Given the description of an element on the screen output the (x, y) to click on. 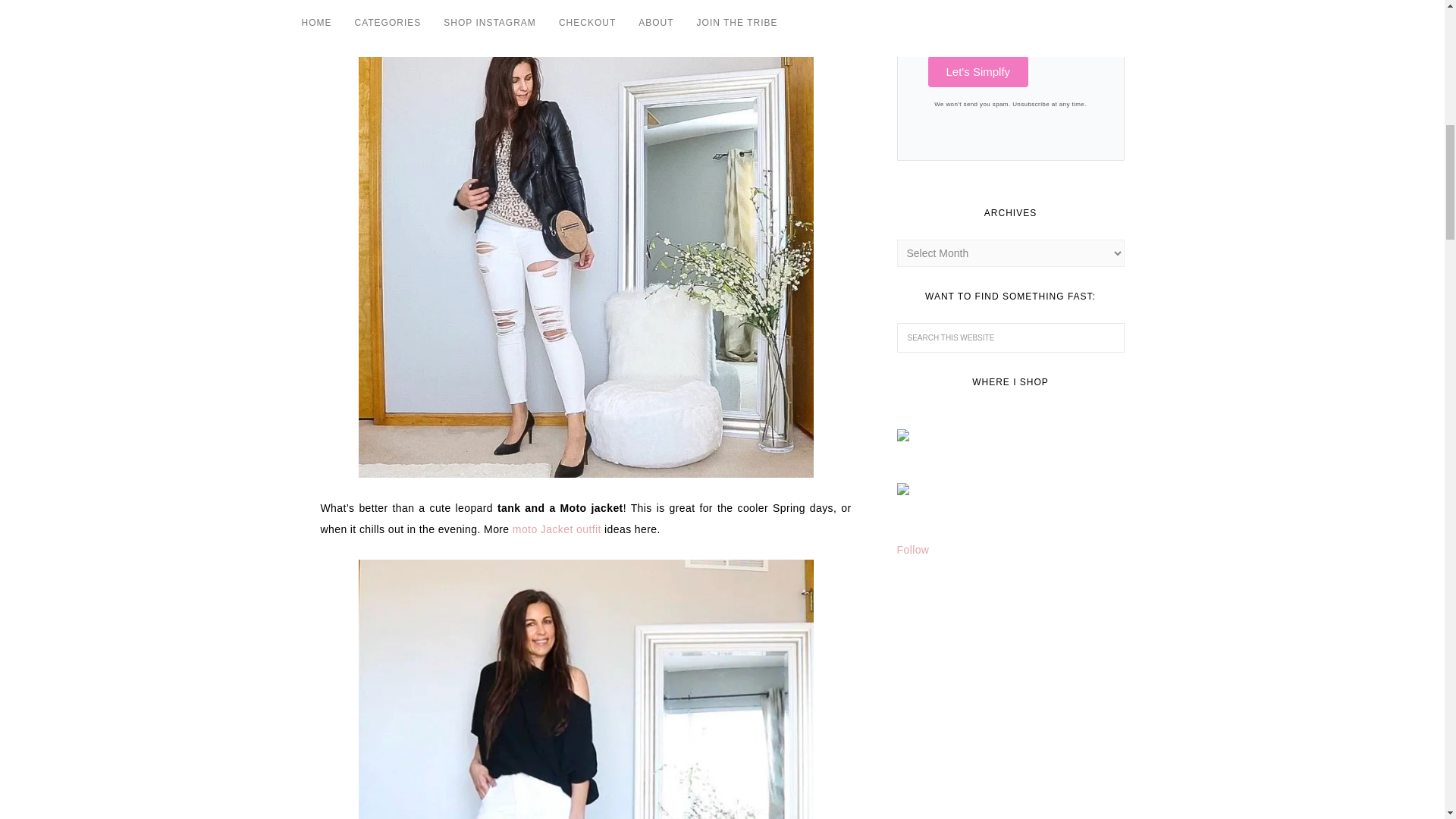
moto Jacket outfit (556, 529)
Follow (912, 549)
Let's Simplfy (978, 71)
